Given the description of an element on the screen output the (x, y) to click on. 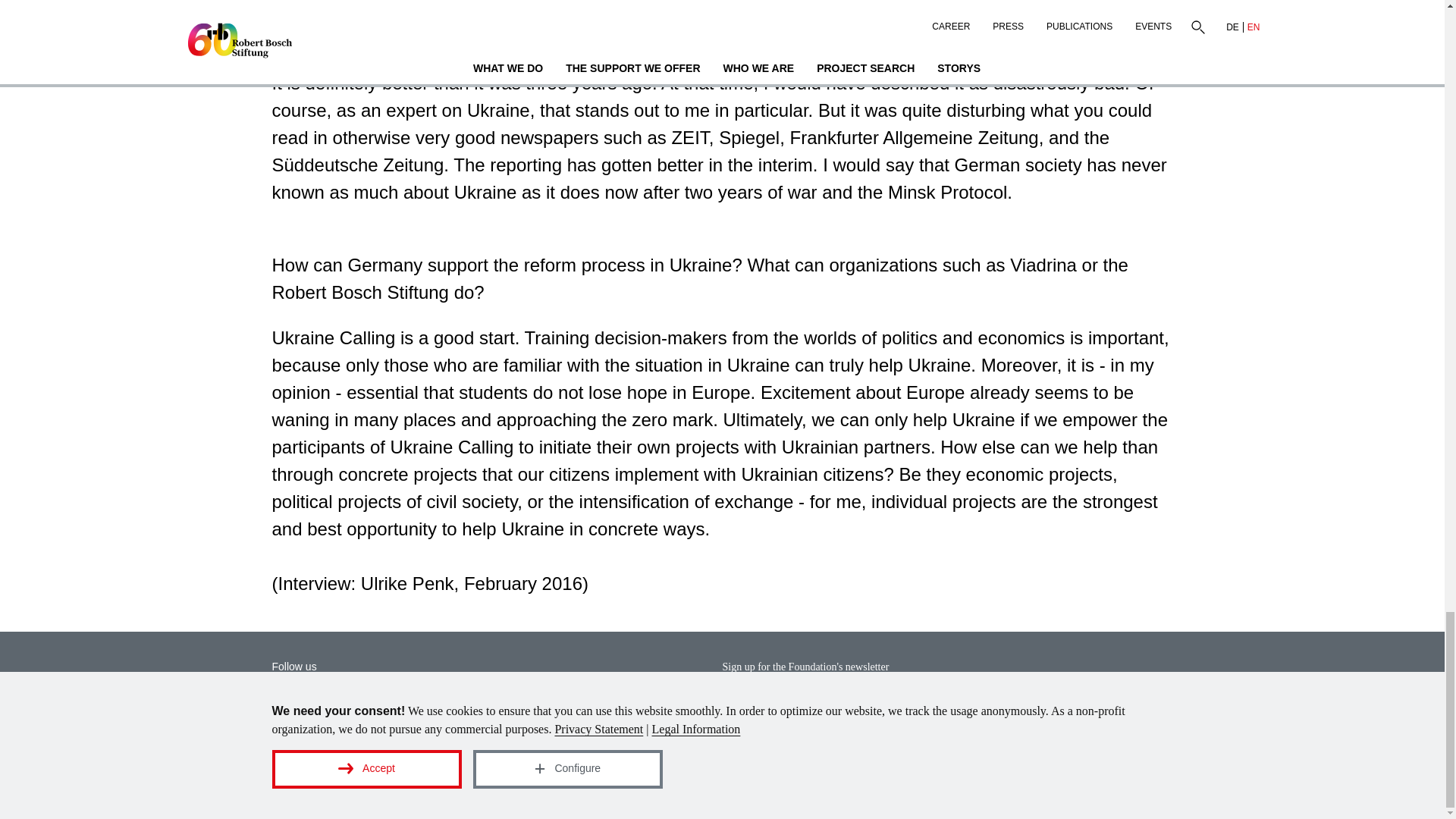
youtube (395, 707)
facebook (343, 707)
Enter your e-mail here (853, 707)
Submit registration (1080, 707)
Legal Information (1125, 786)
Privacy Statement (1011, 786)
Contact (919, 786)
Linkedin (287, 707)
instagram (450, 707)
